Given the description of an element on the screen output the (x, y) to click on. 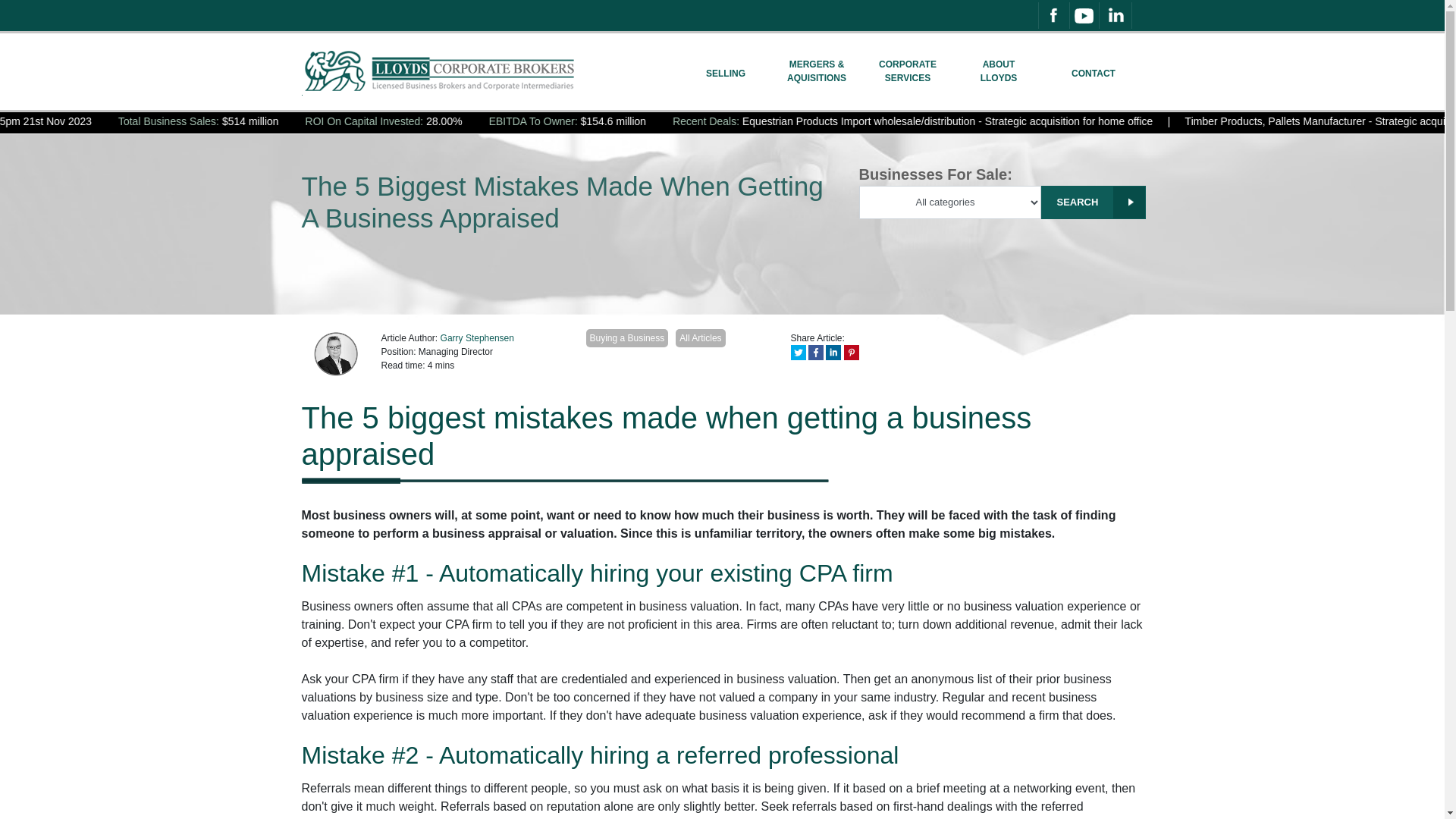
Garry Stephensen Element type: text (477, 337)
SEARCH Element type: text (1092, 202)
ABOUT
LLOYDS Element type: text (998, 71)
Buying a Business Element type: text (626, 338)
MERGERS &
AQUISITIONS Element type: text (816, 71)
All Articles Element type: text (699, 338)
CORPORATE
SERVICES Element type: text (907, 71)
CONTACT Element type: text (1093, 71)
SELLING Element type: text (725, 71)
